Given the description of an element on the screen output the (x, y) to click on. 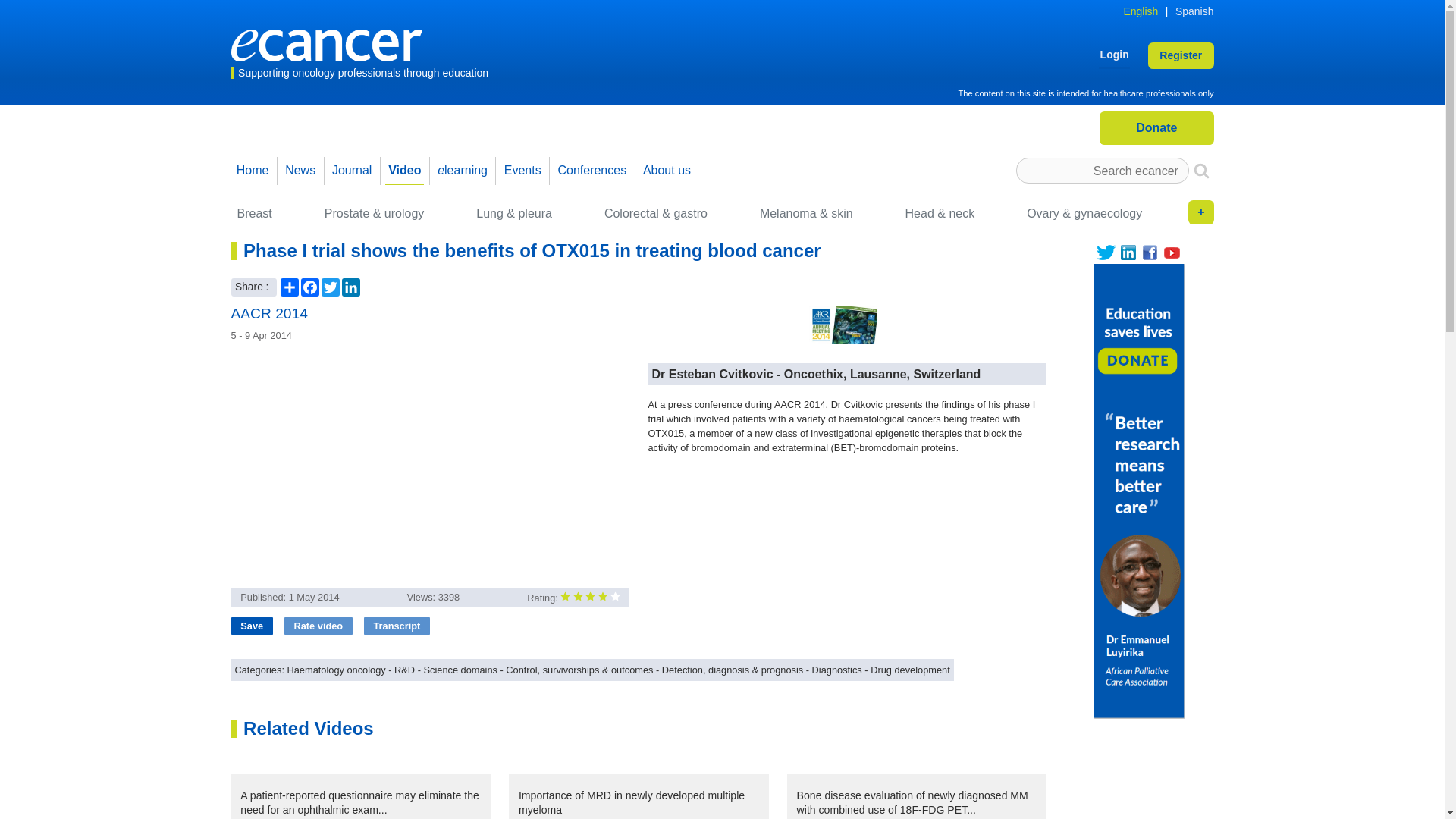
Login (1114, 55)
Importance of MRD in newly developed multiple myeloma (638, 803)
More categories (1200, 211)
Spanish (1194, 10)
Share on LinkedIn (467, 382)
Register (1180, 55)
Share on Facebook (412, 382)
Donate (1155, 127)
English (1139, 10)
AACR 2014 (842, 324)
PayPal - The safer, easier way to pay online! (1155, 127)
Share on Twitter (440, 382)
ecancer (326, 44)
Choose sharing platform (385, 382)
